Given the description of an element on the screen output the (x, y) to click on. 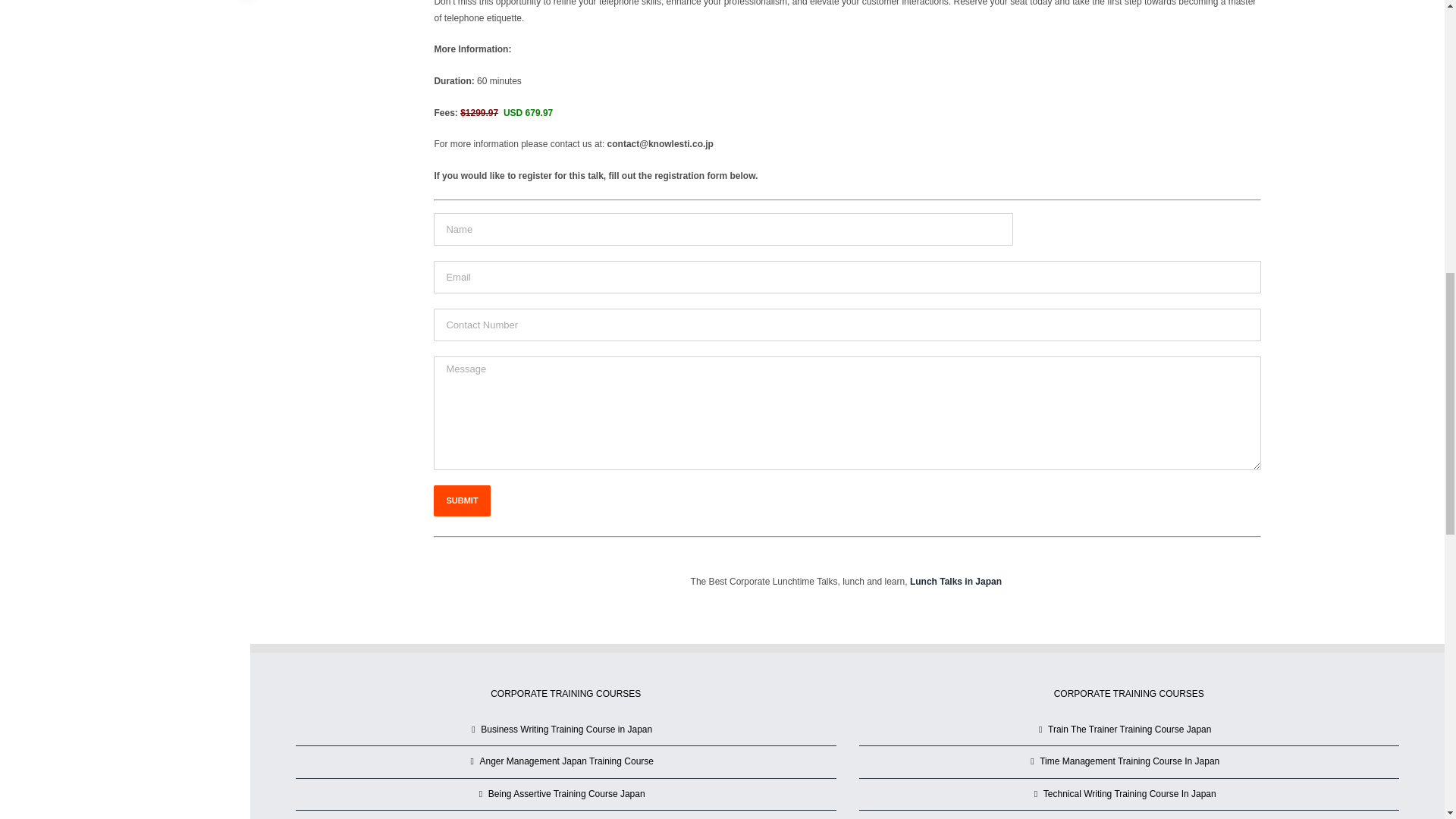
Time Management Training Course In Japan (1129, 761)
submit (461, 500)
Train The Trainer Training Course Japan (1129, 729)
Lunch Talks in Japan  (957, 581)
Being Assertive Training Course Japan (566, 794)
Anger Management Japan Training Course (566, 761)
Business Writing Training Course in Japan (566, 729)
submit (461, 500)
Technical Writing Training Course In Japan (1129, 794)
